Given the description of an element on the screen output the (x, y) to click on. 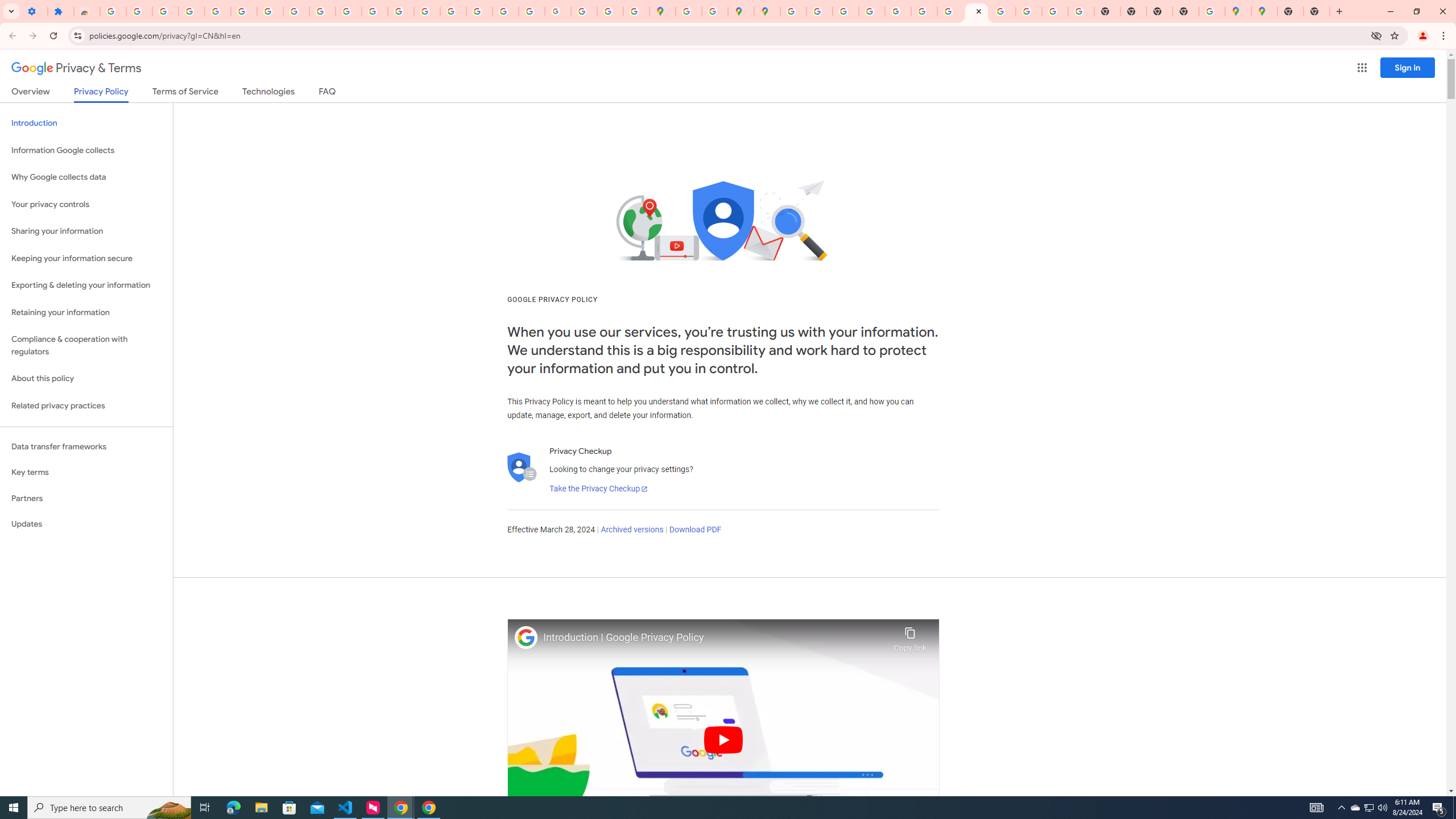
Google Maps (1238, 11)
Play (723, 739)
Copy link (909, 636)
Take the Privacy Checkup (597, 488)
